Given the description of an element on the screen output the (x, y) to click on. 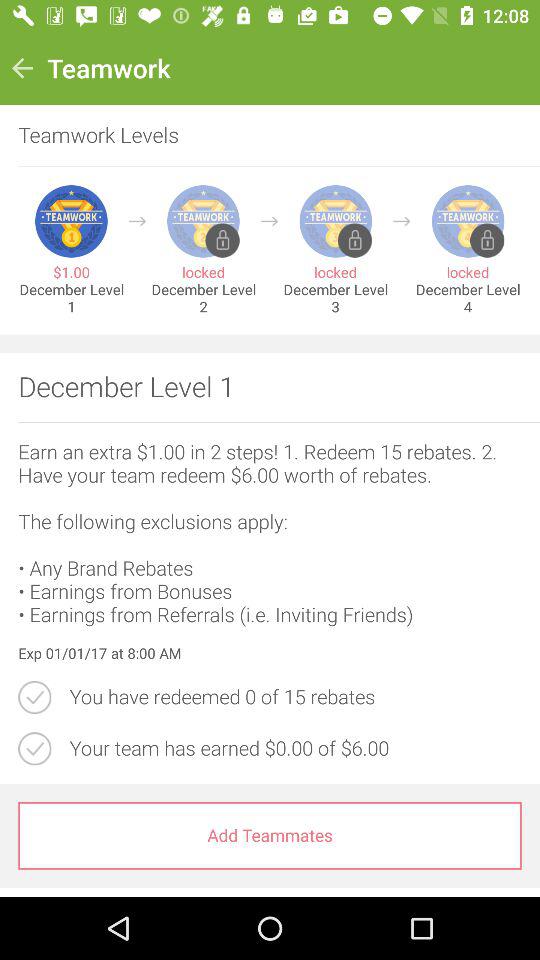
choose the icon below december level 1 item (270, 422)
